Given the description of an element on the screen output the (x, y) to click on. 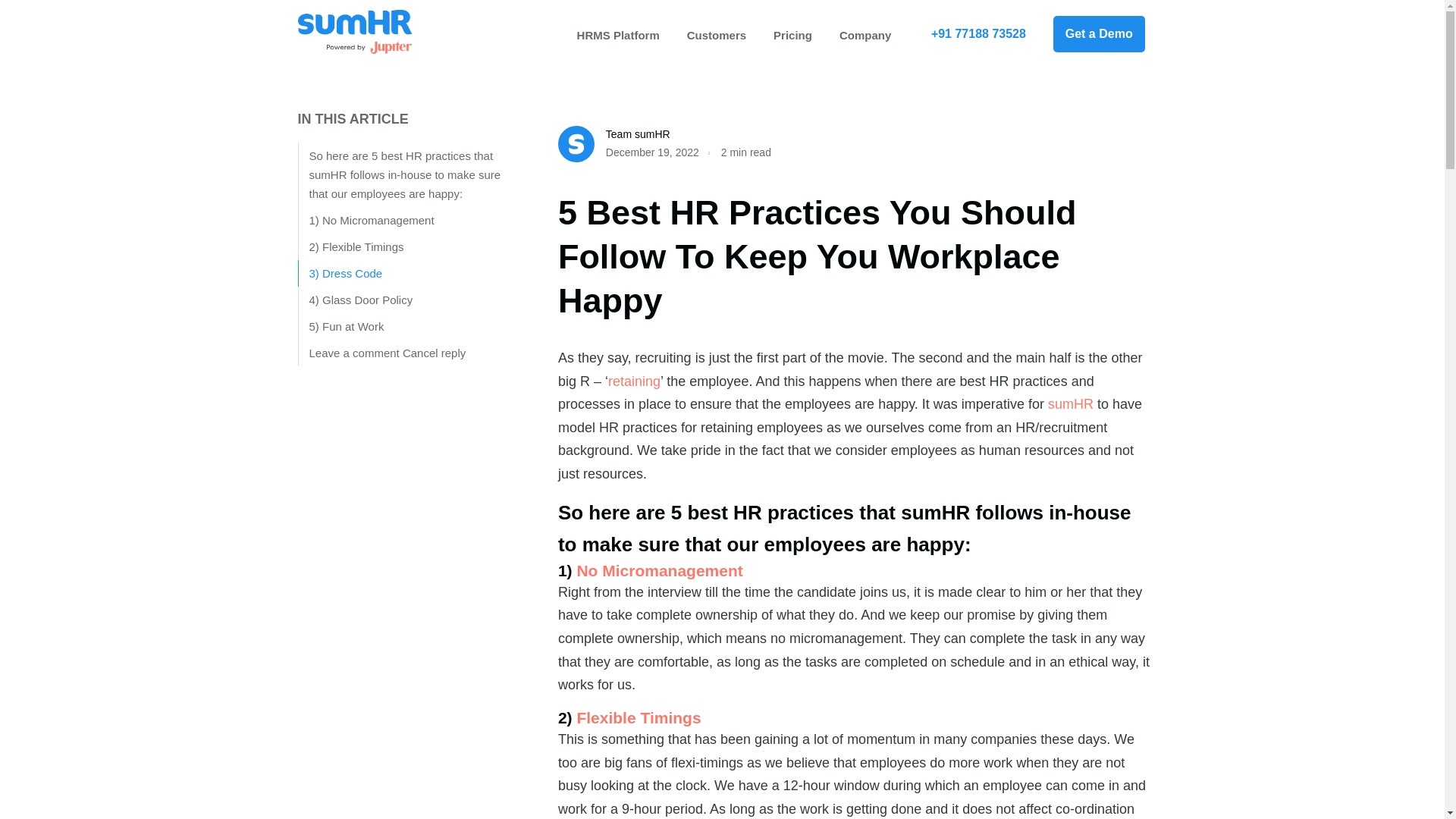
Company (864, 34)
s logo (575, 144)
Pricing (792, 34)
Customers (716, 34)
HRMS Platform (617, 34)
